Given the description of an element on the screen output the (x, y) to click on. 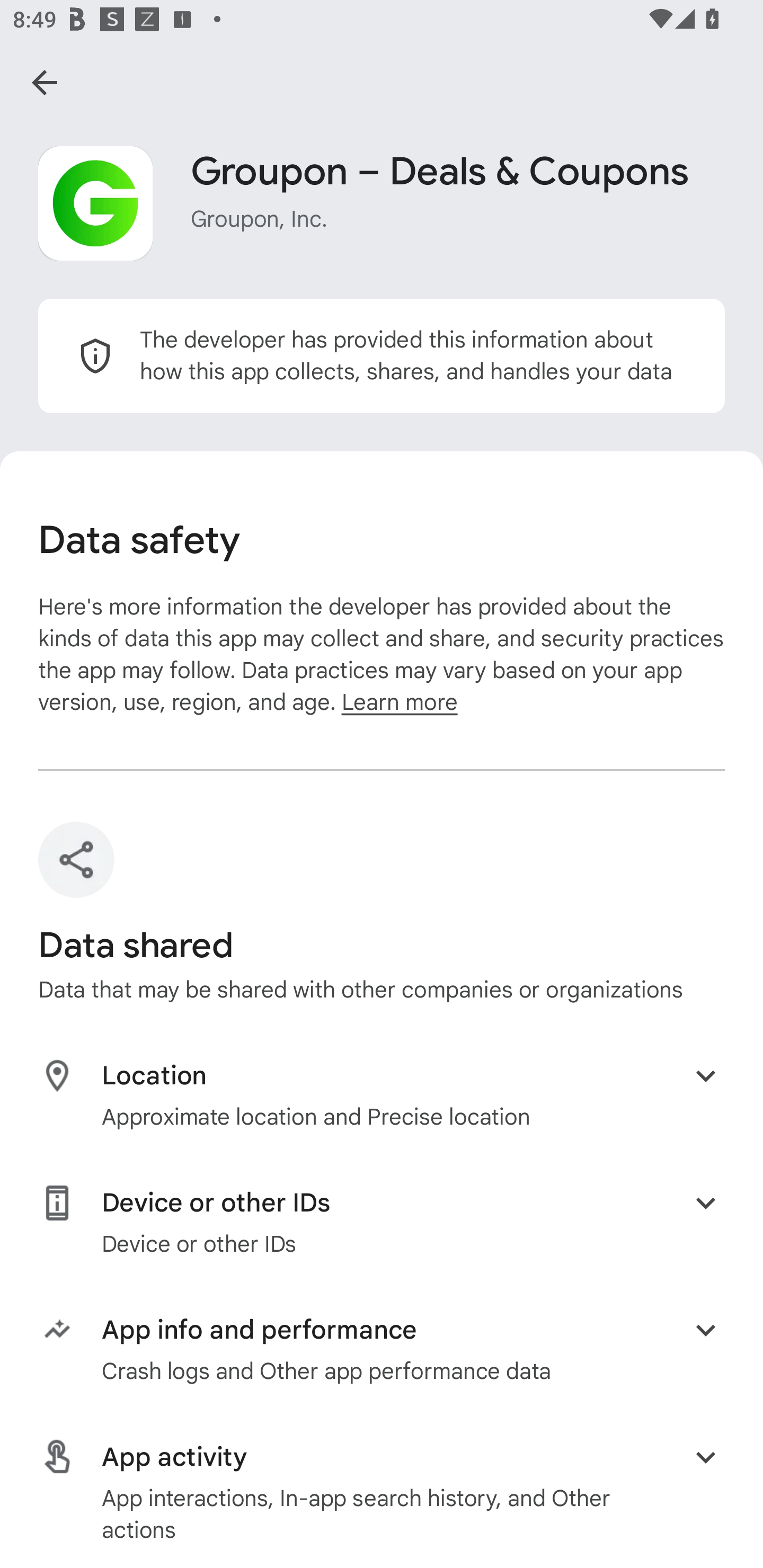
Navigate up (44, 82)
